Given the description of an element on the screen output the (x, y) to click on. 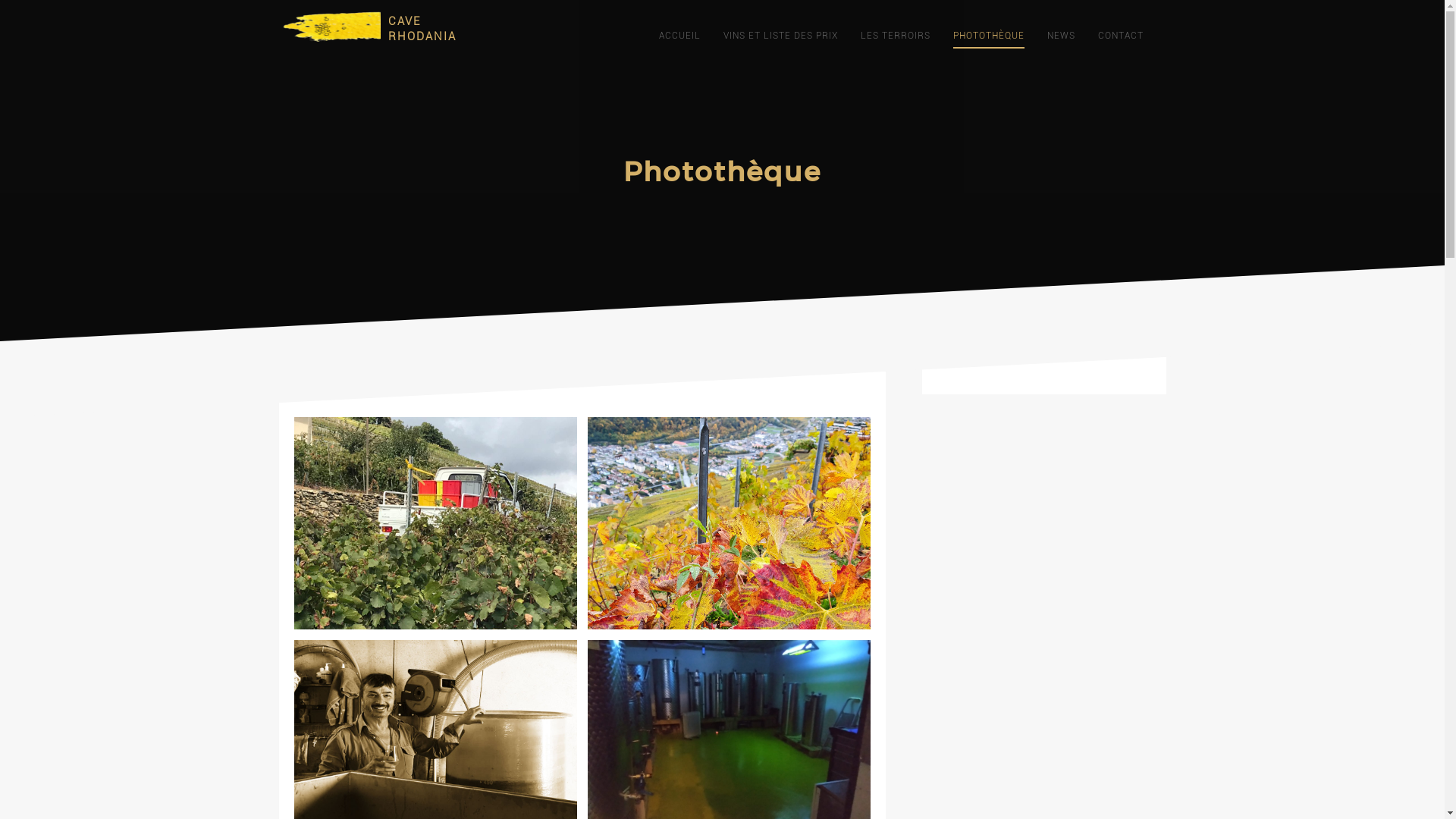
CONTACT Element type: text (1120, 35)
LES TERROIRS Element type: text (894, 35)
ACCUEIL Element type: text (678, 35)
CAVE RHODANIA Element type: text (422, 28)
NEWS Element type: text (1060, 35)
VINS ET LISTE DES PRIX Element type: text (780, 35)
